Given the description of an element on the screen output the (x, y) to click on. 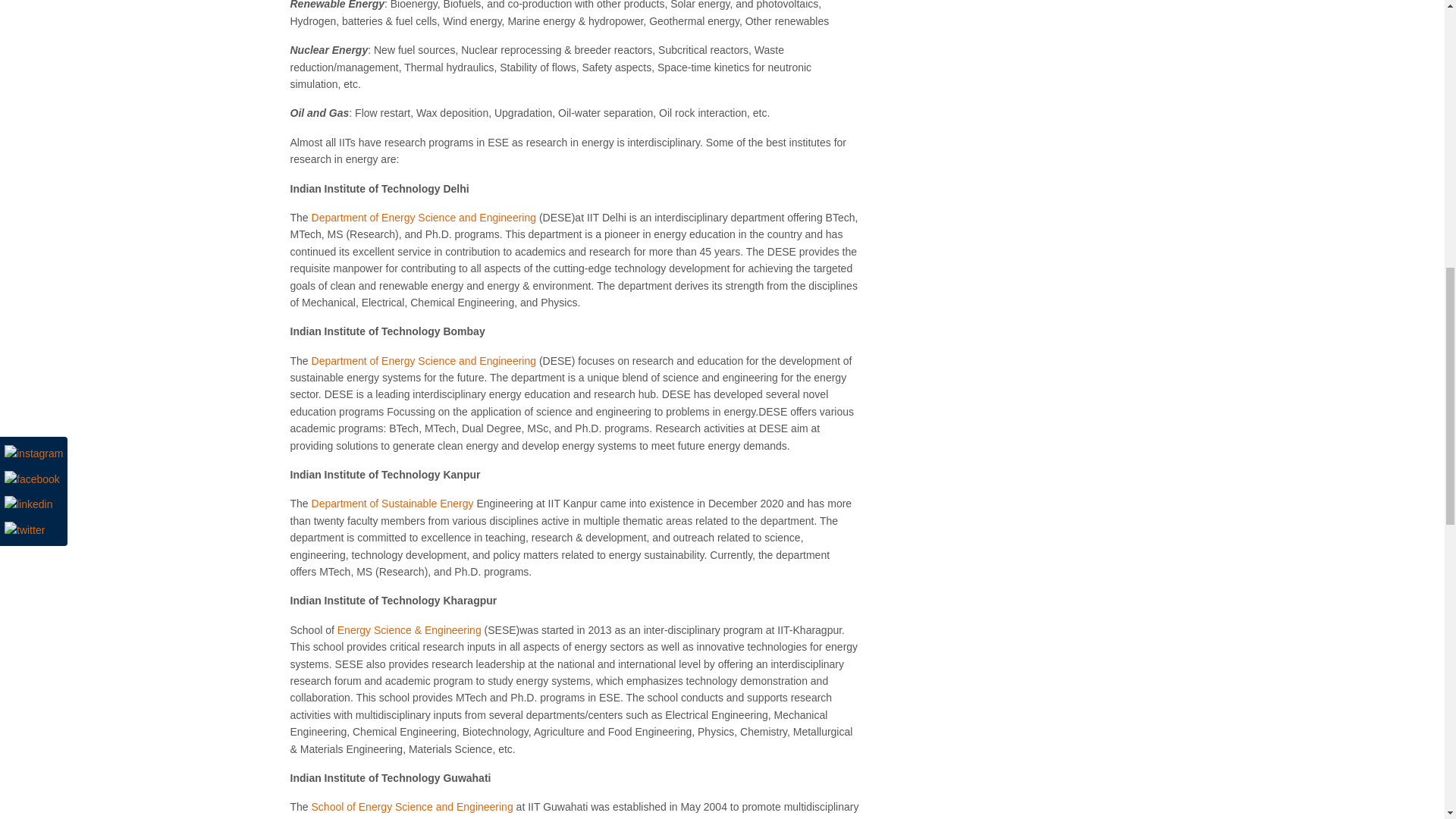
Department of Sustainable Energy (392, 503)
School of Energy Science and Engineering (412, 806)
Department of Energy Science and Engineering (424, 217)
Department of Energy Science and Engineering (424, 360)
